Given the description of an element on the screen output the (x, y) to click on. 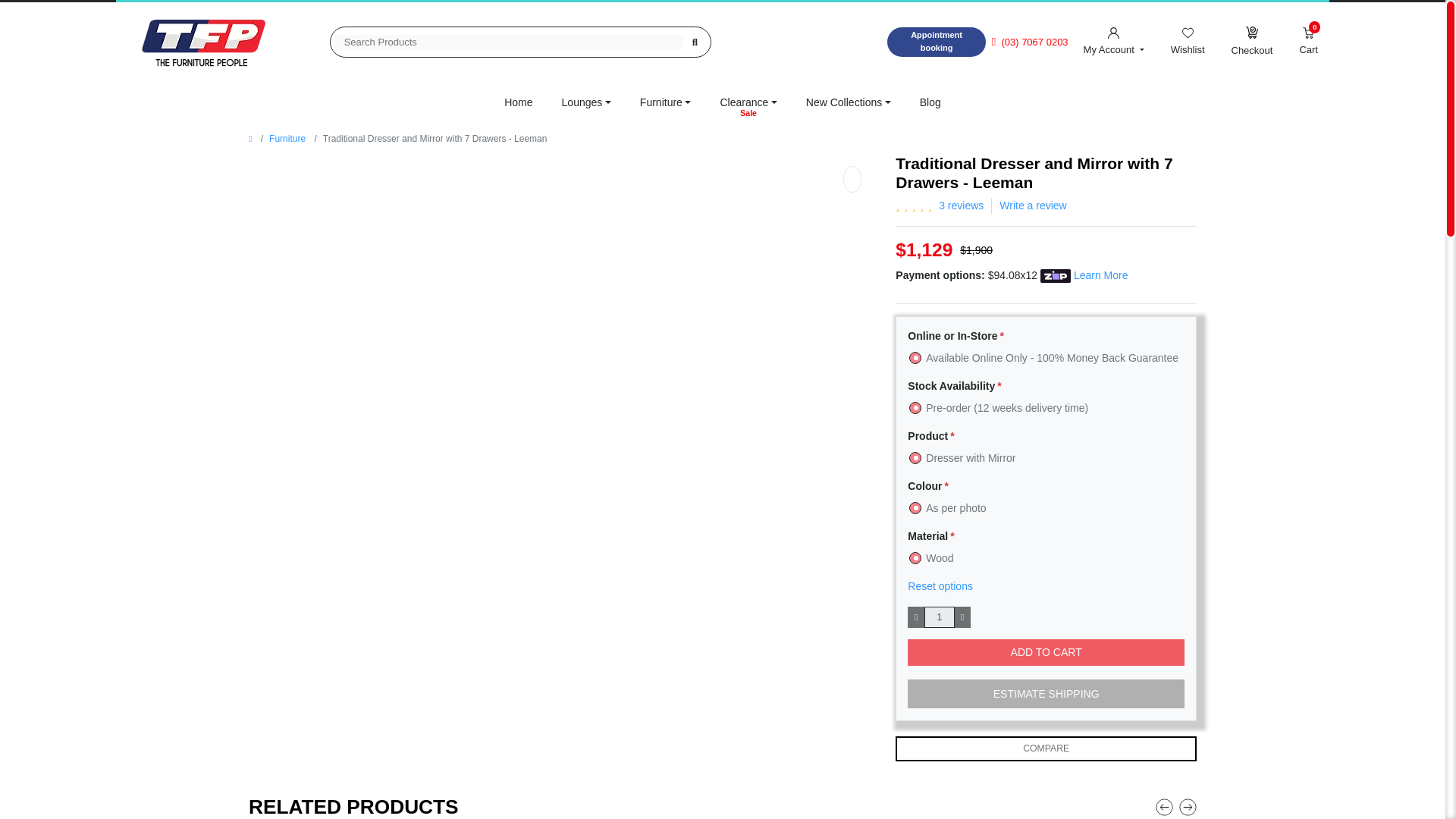
1 (939, 617)
